Given the description of an element on the screen output the (x, y) to click on. 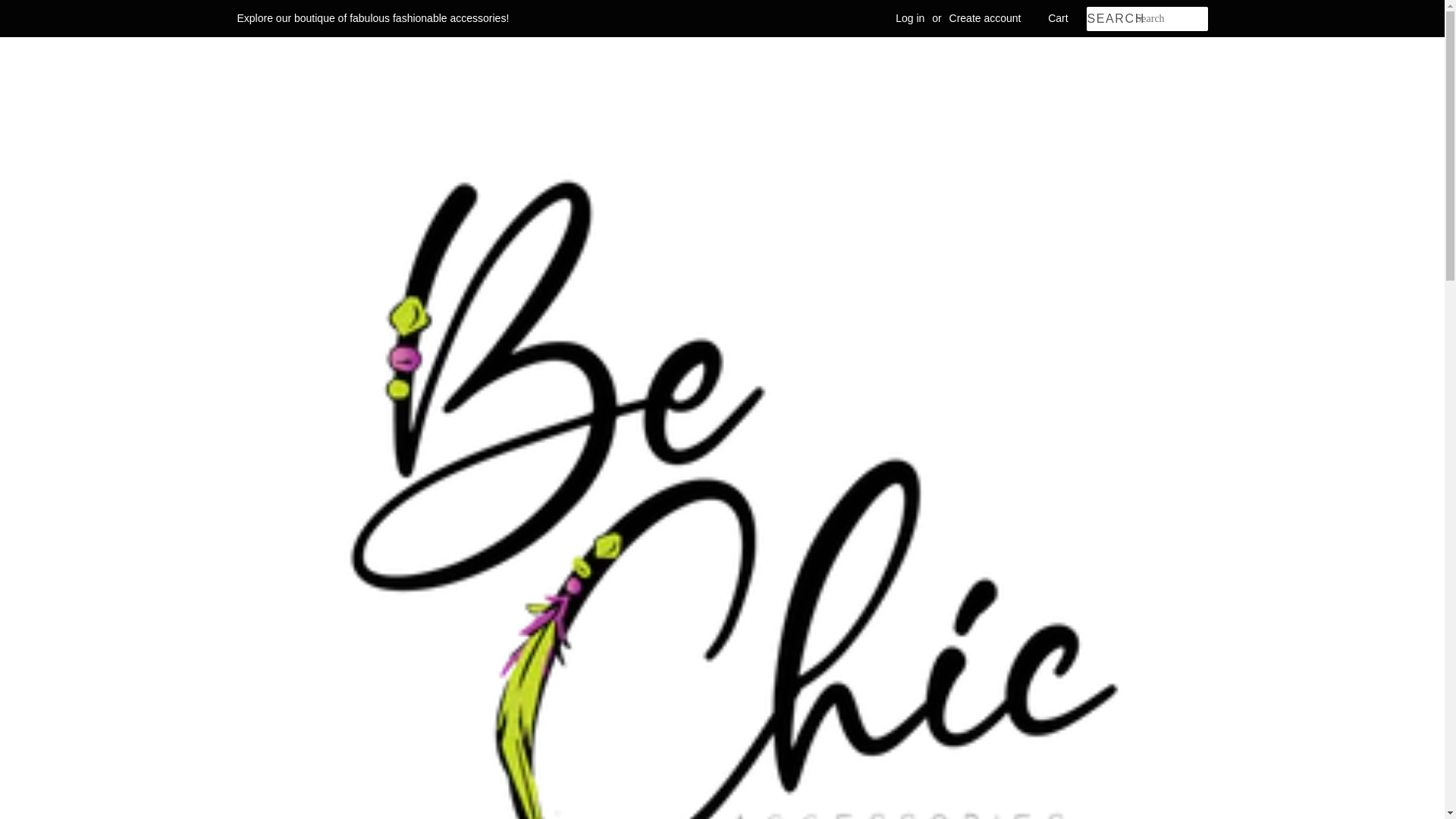
Cart (1057, 18)
Log in (909, 18)
Create account (985, 18)
SEARCH (1110, 18)
